Given the description of an element on the screen output the (x, y) to click on. 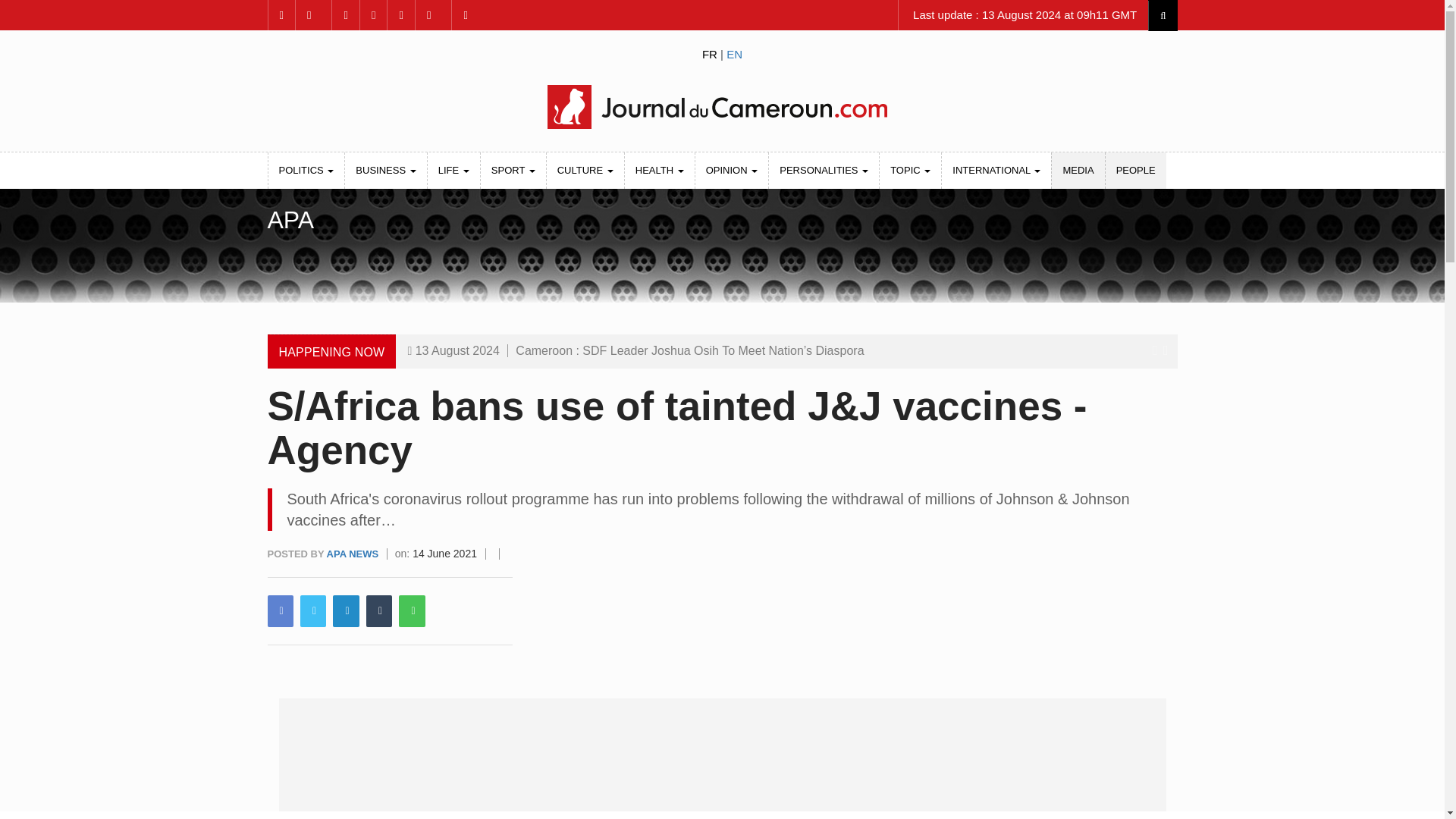
POLITICS (306, 170)
Last update : 13 August 2024 at 09h11 GMT (1023, 15)
EN (734, 53)
JDC (721, 106)
FR (709, 53)
BUSINESS (385, 170)
